Given the description of an element on the screen output the (x, y) to click on. 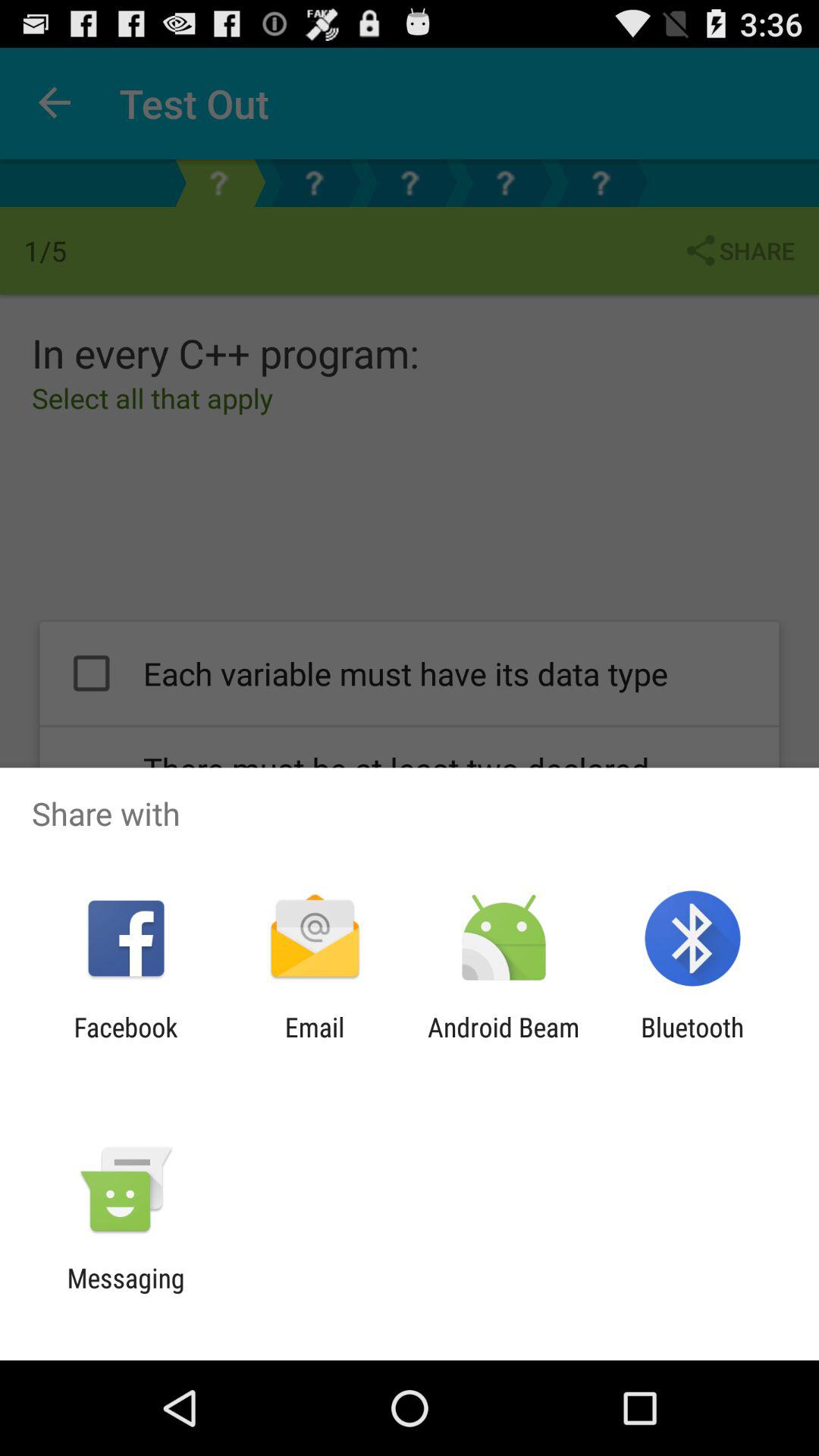
click facebook item (125, 1042)
